Given the description of an element on the screen output the (x, y) to click on. 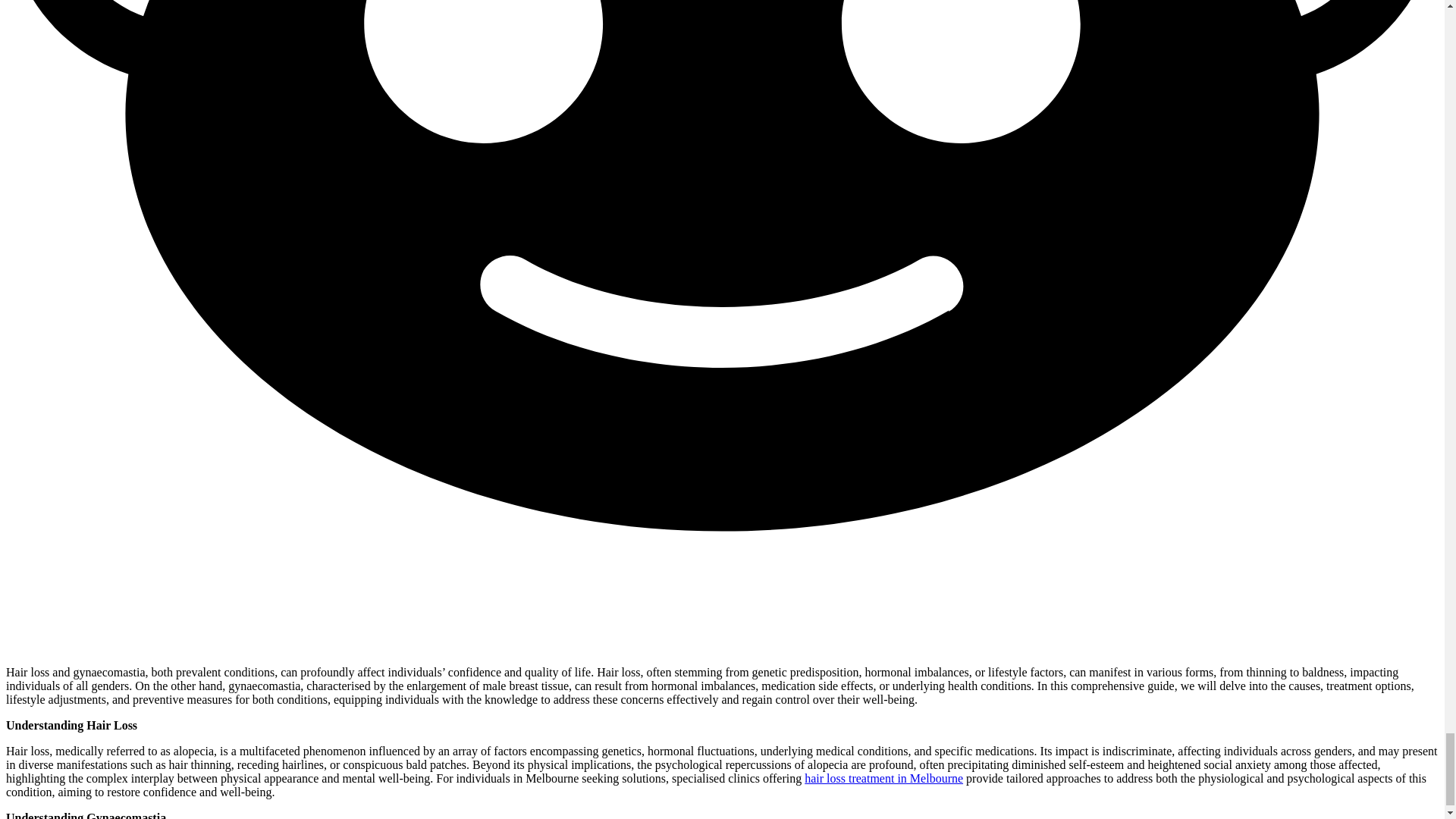
hair loss treatment in Melbourne (883, 778)
